Given the description of an element on the screen output the (x, y) to click on. 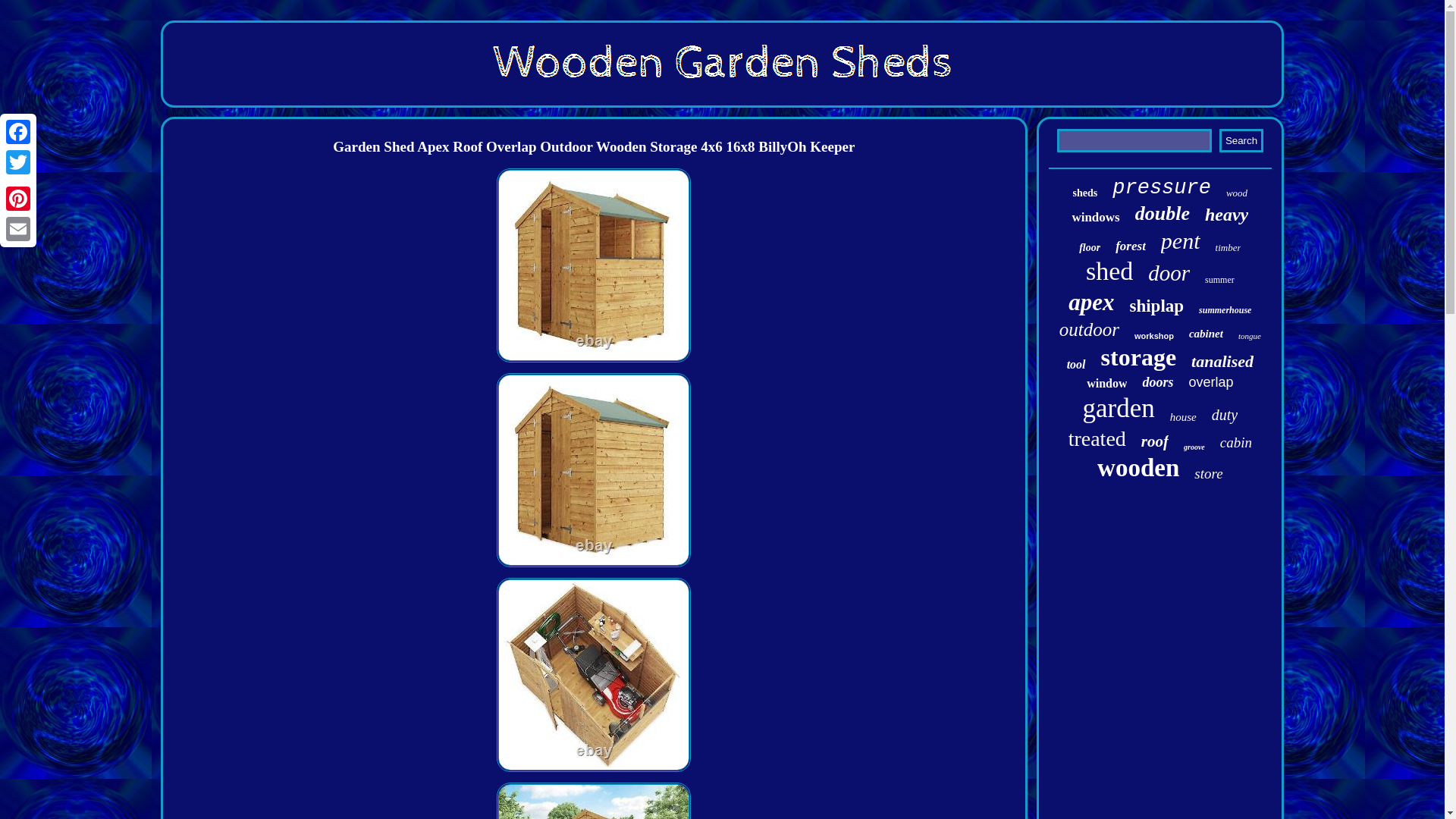
sheds (1085, 193)
door (1168, 273)
floor (1089, 247)
Search (1241, 140)
double (1162, 213)
Pinterest (17, 198)
workshop (1153, 335)
pent (1179, 240)
shed (1109, 271)
summer (1219, 279)
windows (1095, 217)
shiplap (1156, 306)
Search (1241, 140)
